Given the description of an element on the screen output the (x, y) to click on. 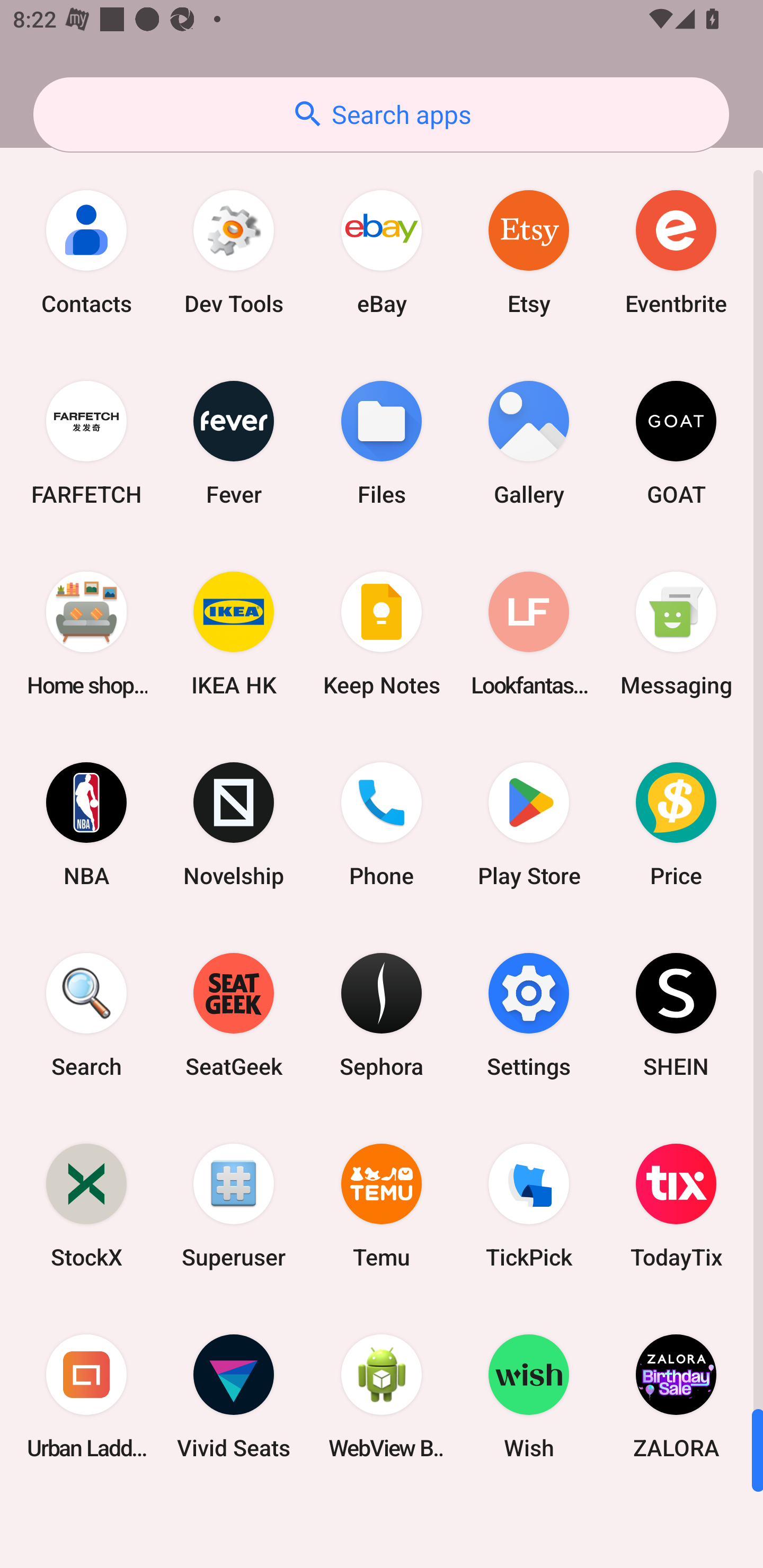
  Search apps (381, 114)
Contacts (86, 252)
Dev Tools (233, 252)
eBay (381, 252)
Etsy (528, 252)
Eventbrite (676, 252)
FARFETCH (86, 442)
Fever (233, 442)
Files (381, 442)
Gallery (528, 442)
GOAT (676, 442)
Home shopping (86, 633)
IKEA HK (233, 633)
Keep Notes (381, 633)
Lookfantastic (528, 633)
Messaging (676, 633)
NBA (86, 823)
Novelship (233, 823)
Phone (381, 823)
Play Store (528, 823)
Price (676, 823)
Search (86, 1014)
SeatGeek (233, 1014)
Sephora (381, 1014)
Settings (528, 1014)
SHEIN (676, 1014)
StockX (86, 1205)
Superuser (233, 1205)
Temu (381, 1205)
TickPick (528, 1205)
TodayTix (676, 1205)
Urban Ladder (86, 1396)
Vivid Seats (233, 1396)
WebView Browser Tester (381, 1396)
Wish (528, 1396)
ZALORA (676, 1396)
